Given the description of an element on the screen output the (x, y) to click on. 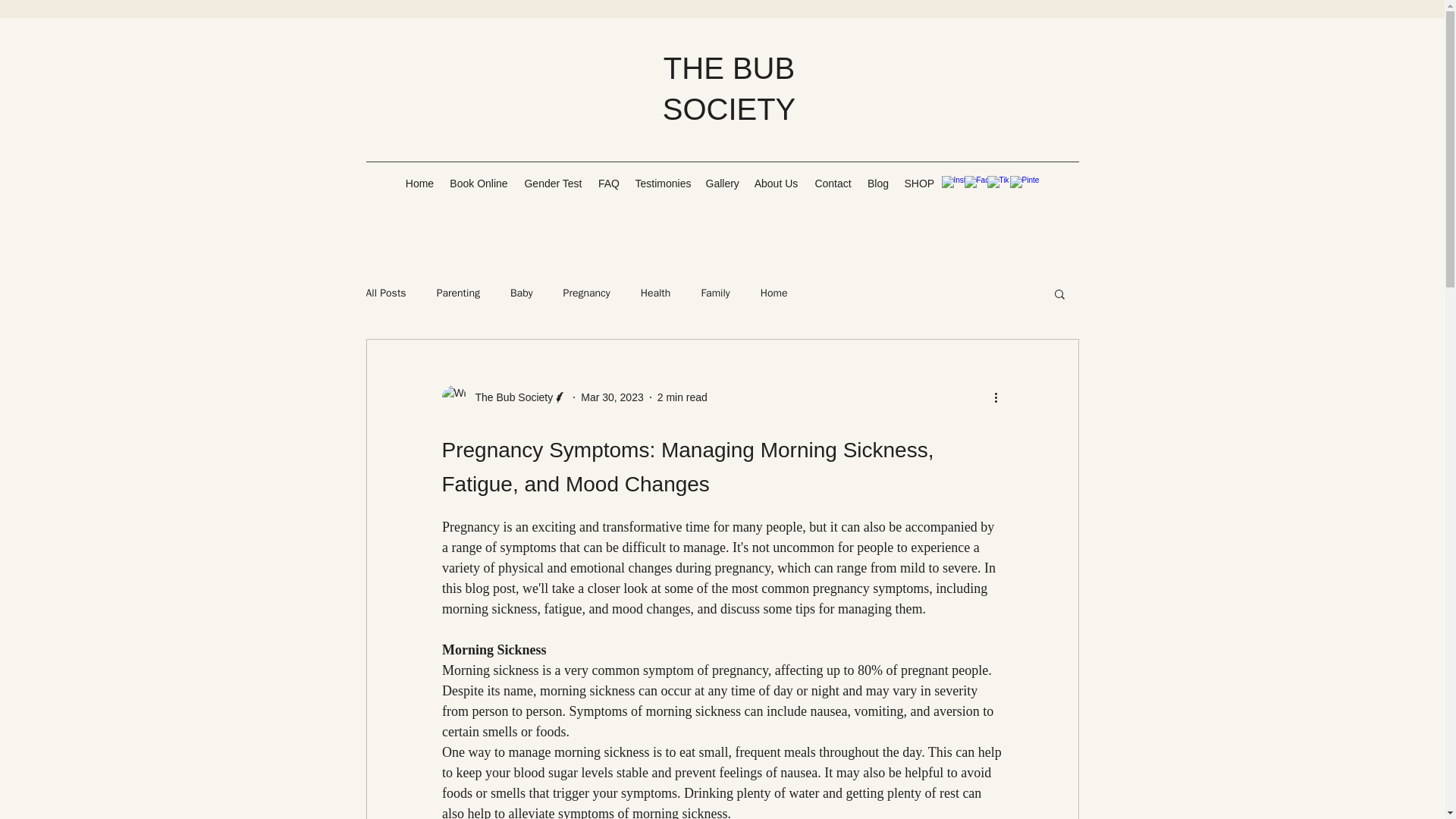
SHOP (918, 182)
All Posts (385, 293)
Gender Test (552, 182)
About Us (775, 182)
Gallery (721, 182)
Pregnancy (586, 293)
2 min read (682, 397)
Parenting (458, 293)
Health (655, 293)
Home (419, 182)
The Bub Society (509, 397)
The Bub Society (504, 396)
Contact (833, 182)
Family (714, 293)
THE BUB SOCIETY (729, 88)
